Given the description of an element on the screen output the (x, y) to click on. 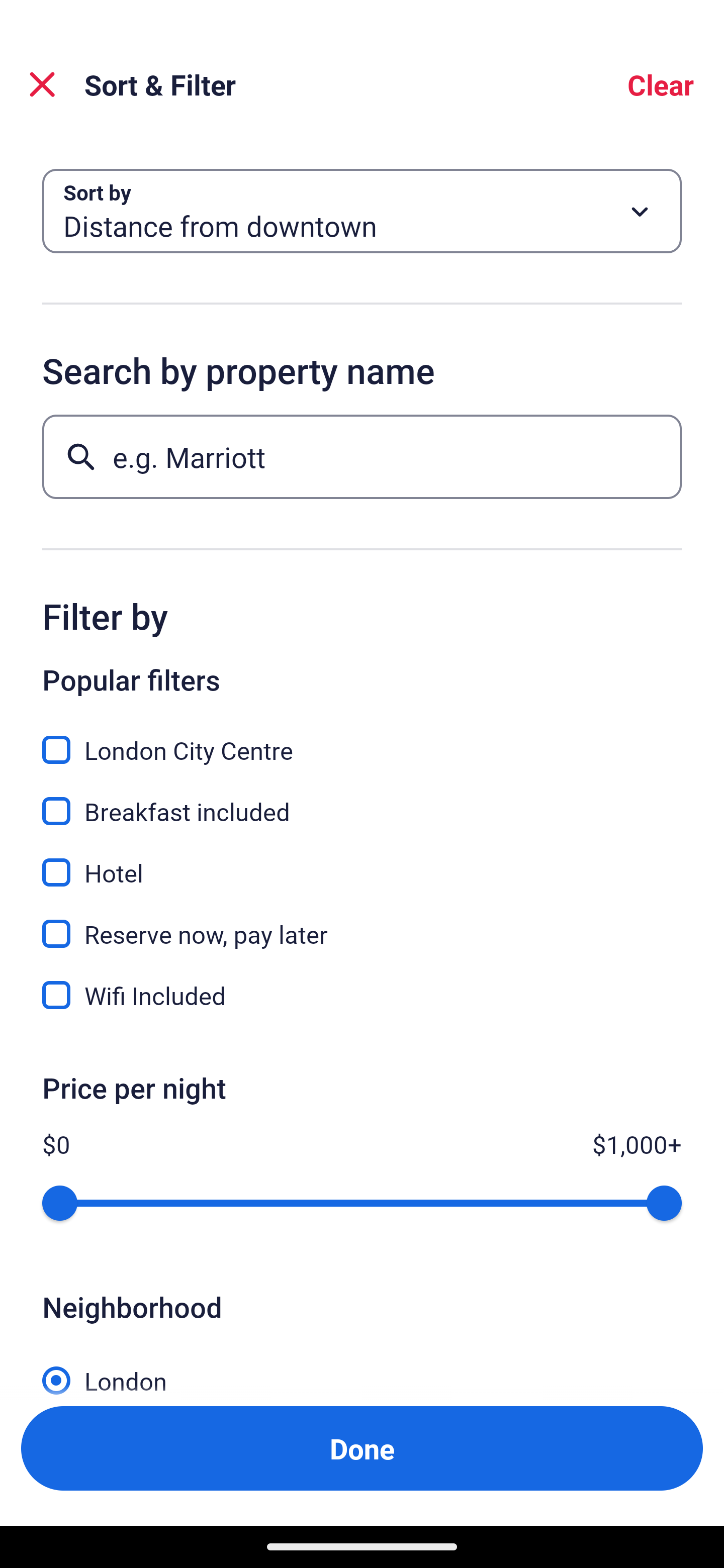
Close Sort and Filter (42, 84)
Clear (660, 84)
Sort by Button Distance from downtown (361, 211)
e.g. Marriott Button (361, 455)
London City Centre, London City Centre (361, 738)
Breakfast included, Breakfast included (361, 800)
Hotel, Hotel (361, 861)
Reserve now, pay later, Reserve now, pay later (361, 922)
Wifi Included, Wifi Included (361, 995)
Apply and close Sort and Filter Done (361, 1448)
